Given the description of an element on the screen output the (x, y) to click on. 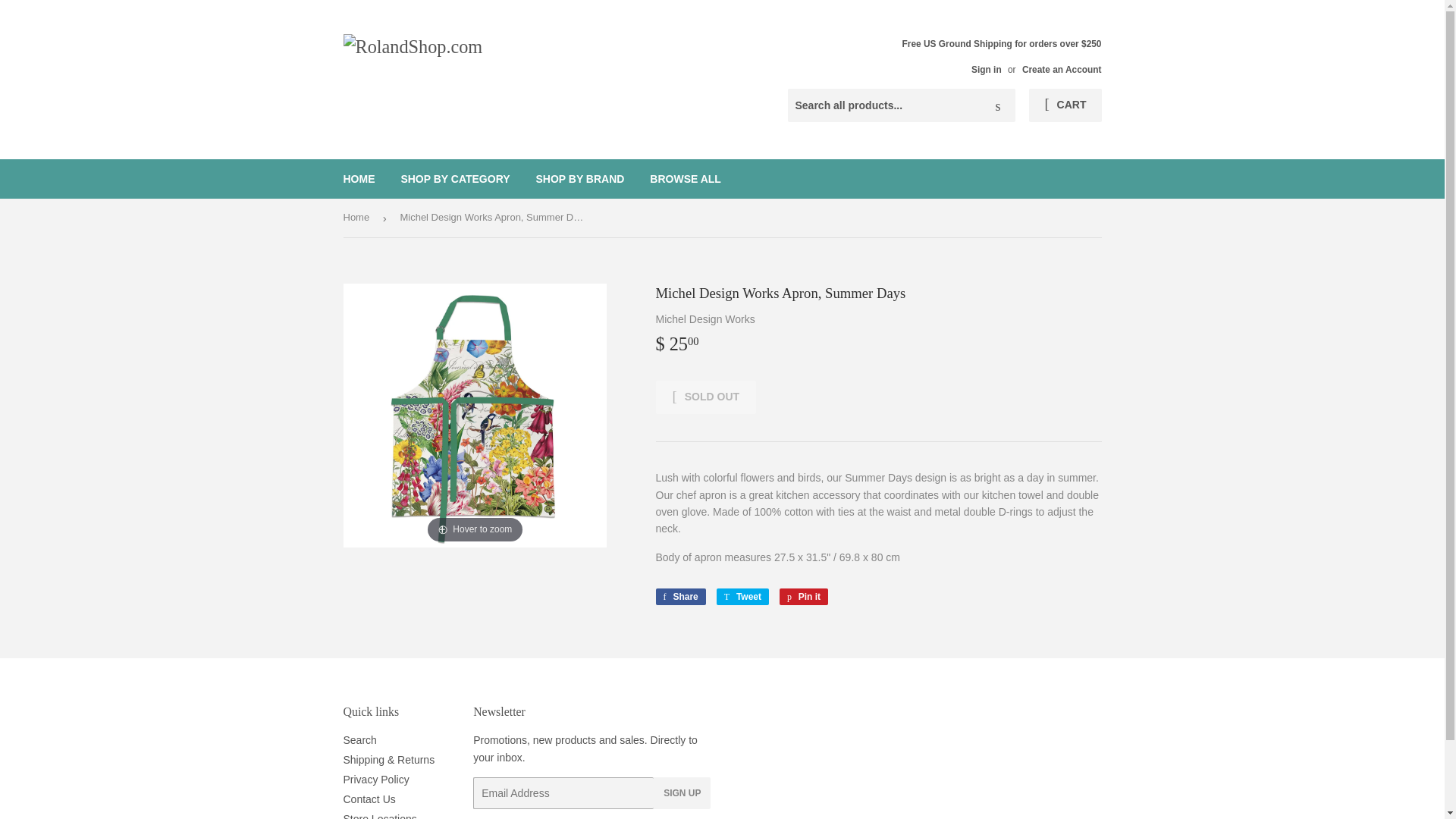
Privacy Policy (375, 779)
Hover to zoom (474, 414)
Pin on Pinterest (803, 596)
Contact Us (368, 799)
BROWSE ALL (685, 178)
Create an Account (742, 596)
SOLD OUT (803, 596)
HOME (1062, 69)
SHOP BY CATEGORY (705, 397)
Search (359, 178)
Share on Facebook (454, 178)
Sign in (997, 106)
